Given the description of an element on the screen output the (x, y) to click on. 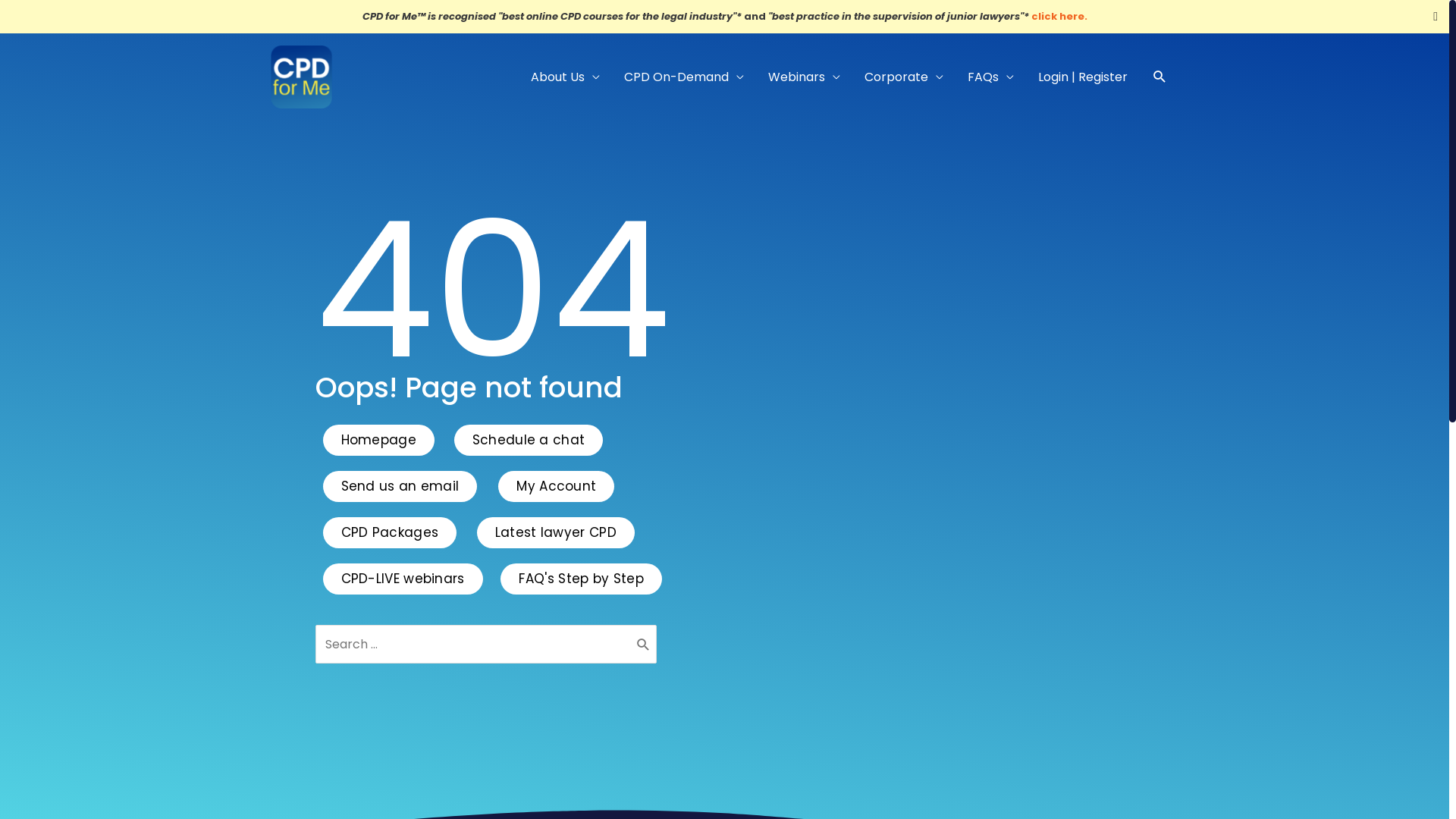
click here. Element type: text (1059, 16)
CPD-LIVE webinars Element type: text (403, 578)
Webinars Element type: text (803, 77)
Send us an email Element type: text (400, 486)
FAQ's Step by Step Element type: text (580, 578)
My Account Element type: text (556, 486)
Login | Register Element type: text (1082, 77)
About Us Element type: text (564, 77)
CPD On-Demand Element type: text (683, 77)
Schedule a chat Element type: text (528, 439)
Search Element type: text (643, 643)
Corporate Element type: text (903, 77)
CPD Packages Element type: text (390, 532)
Homepage Element type: text (378, 439)
FAQs Element type: text (990, 77)
Latest lawyer CPD Element type: text (555, 532)
